Given the description of an element on the screen output the (x, y) to click on. 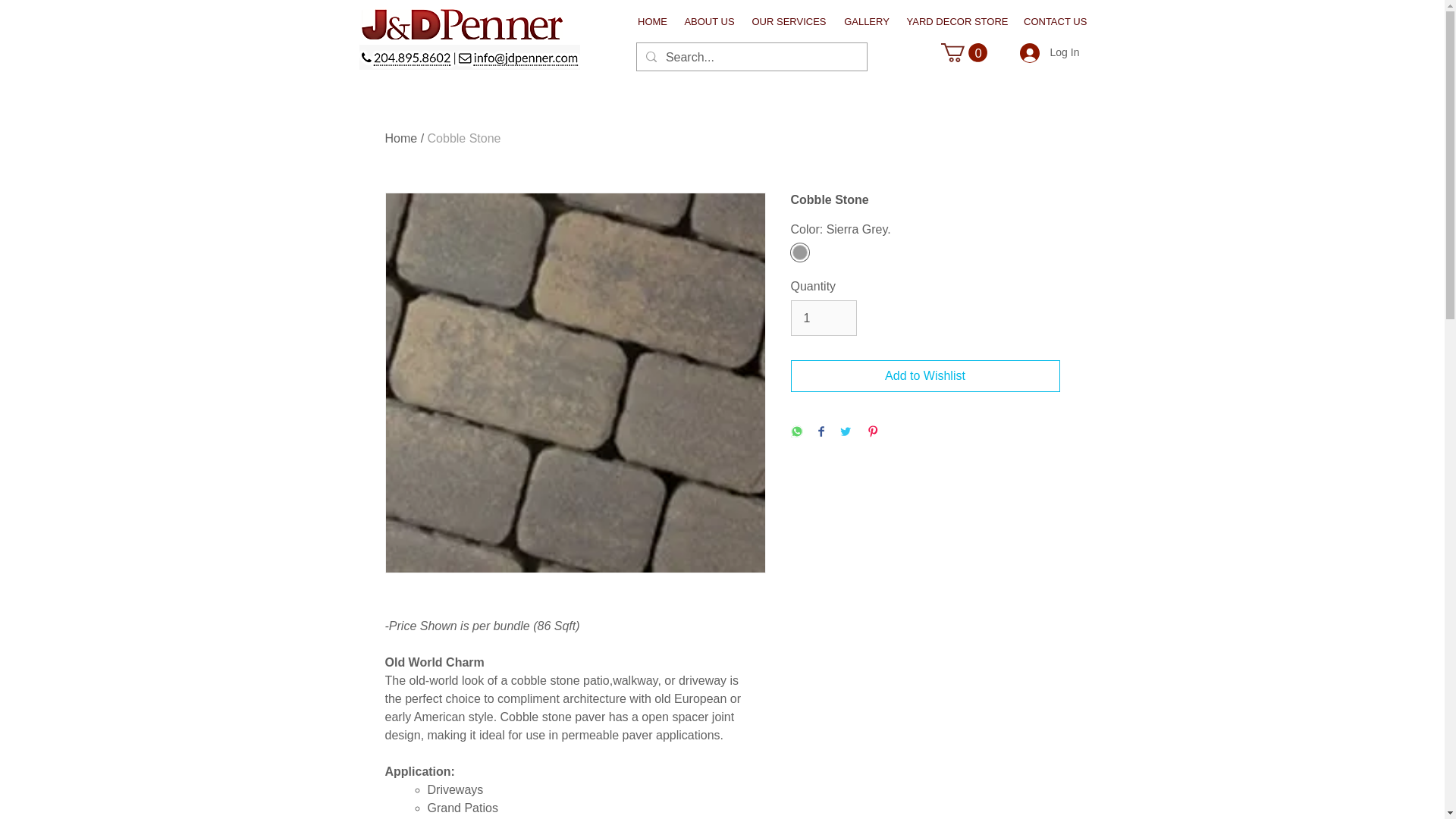
Log In (1039, 52)
HOME (651, 21)
YARD DECOR STORE (957, 21)
ABOUT US (708, 21)
Home (401, 137)
Add to Wishlist (924, 376)
1 (823, 317)
0 (963, 52)
0 (963, 52)
CONTACT US (1055, 21)
